Given the description of an element on the screen output the (x, y) to click on. 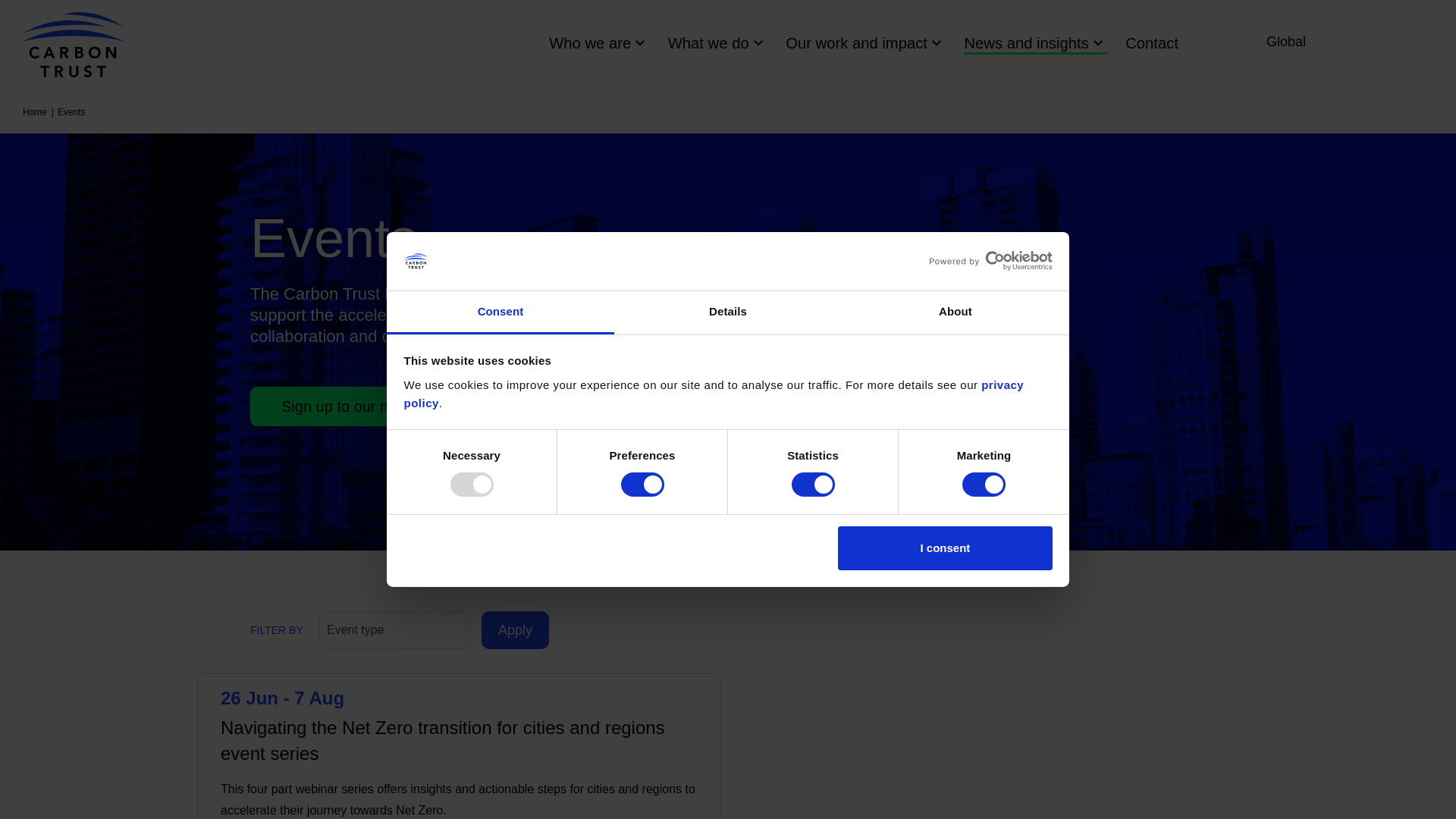
Consent (500, 312)
Apply (514, 629)
About (954, 312)
Details (727, 312)
privacy policy (713, 393)
